Given the description of an element on the screen output the (x, y) to click on. 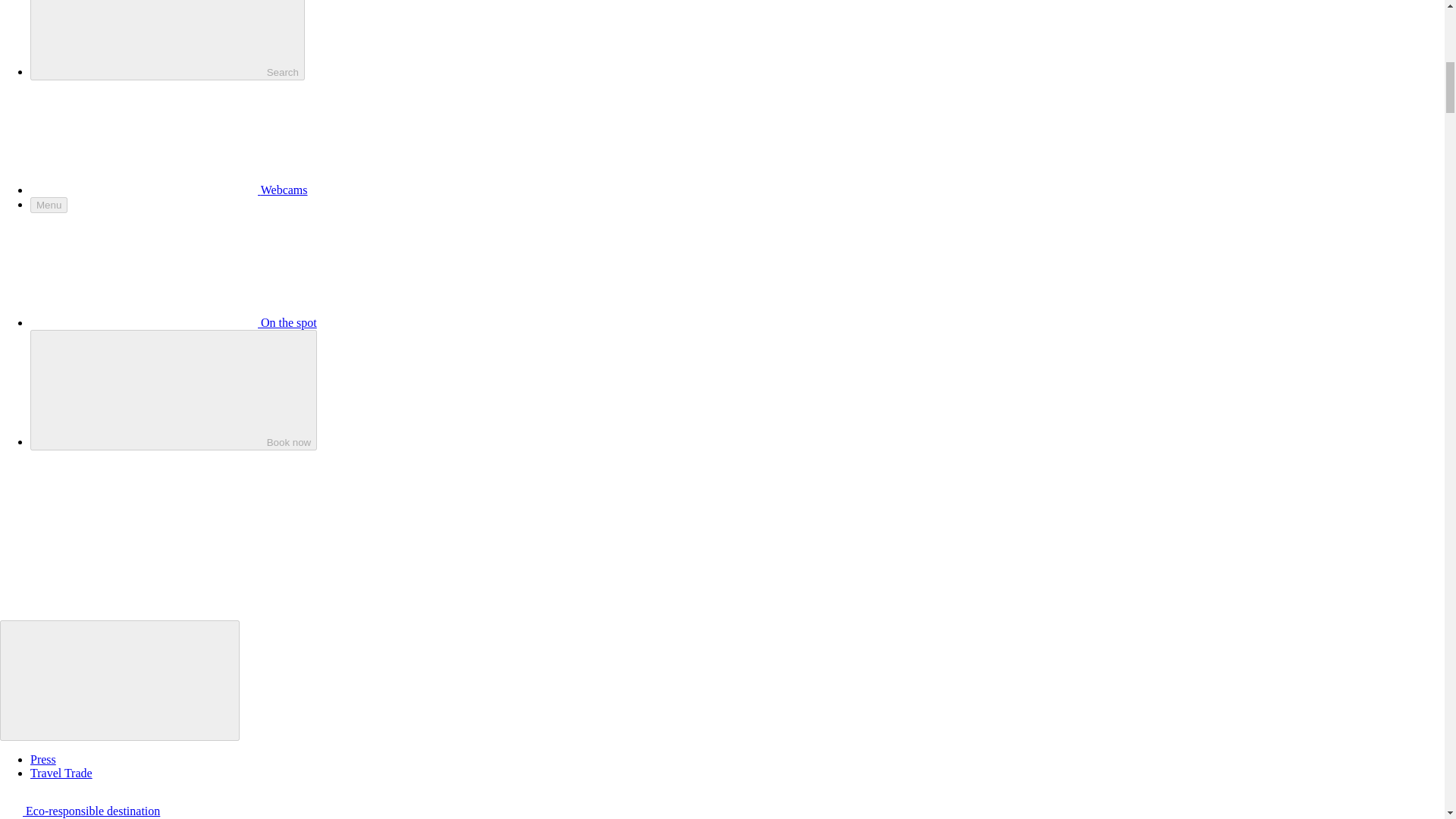
Press (43, 758)
Menu (48, 204)
Webcams (168, 189)
Eco-responsible destination (80, 810)
Search (167, 40)
Travel Trade (61, 772)
Book now (173, 390)
On the spot (173, 322)
